Given the description of an element on the screen output the (x, y) to click on. 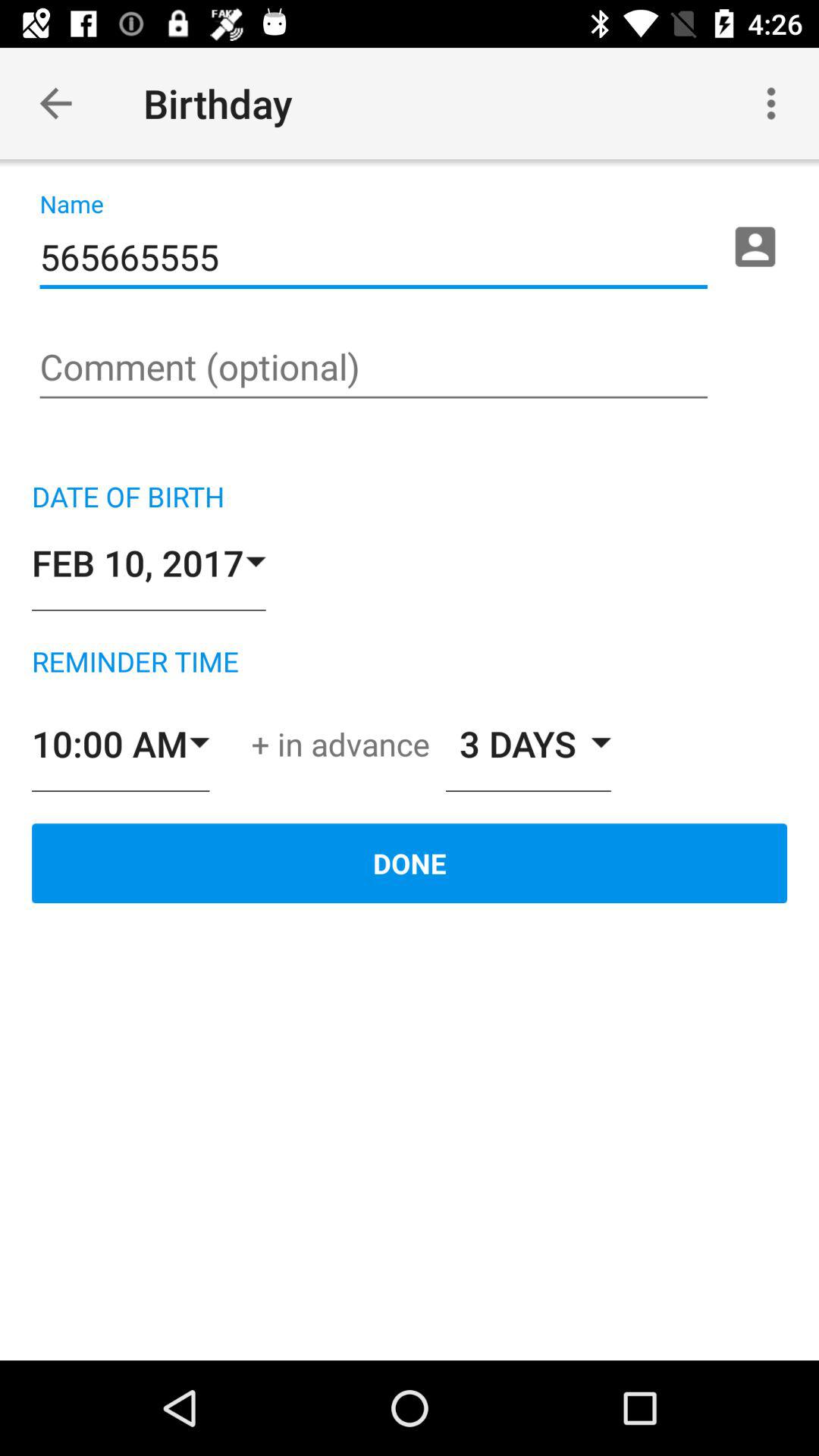
insert a optional comment (373, 369)
